Given the description of an element on the screen output the (x, y) to click on. 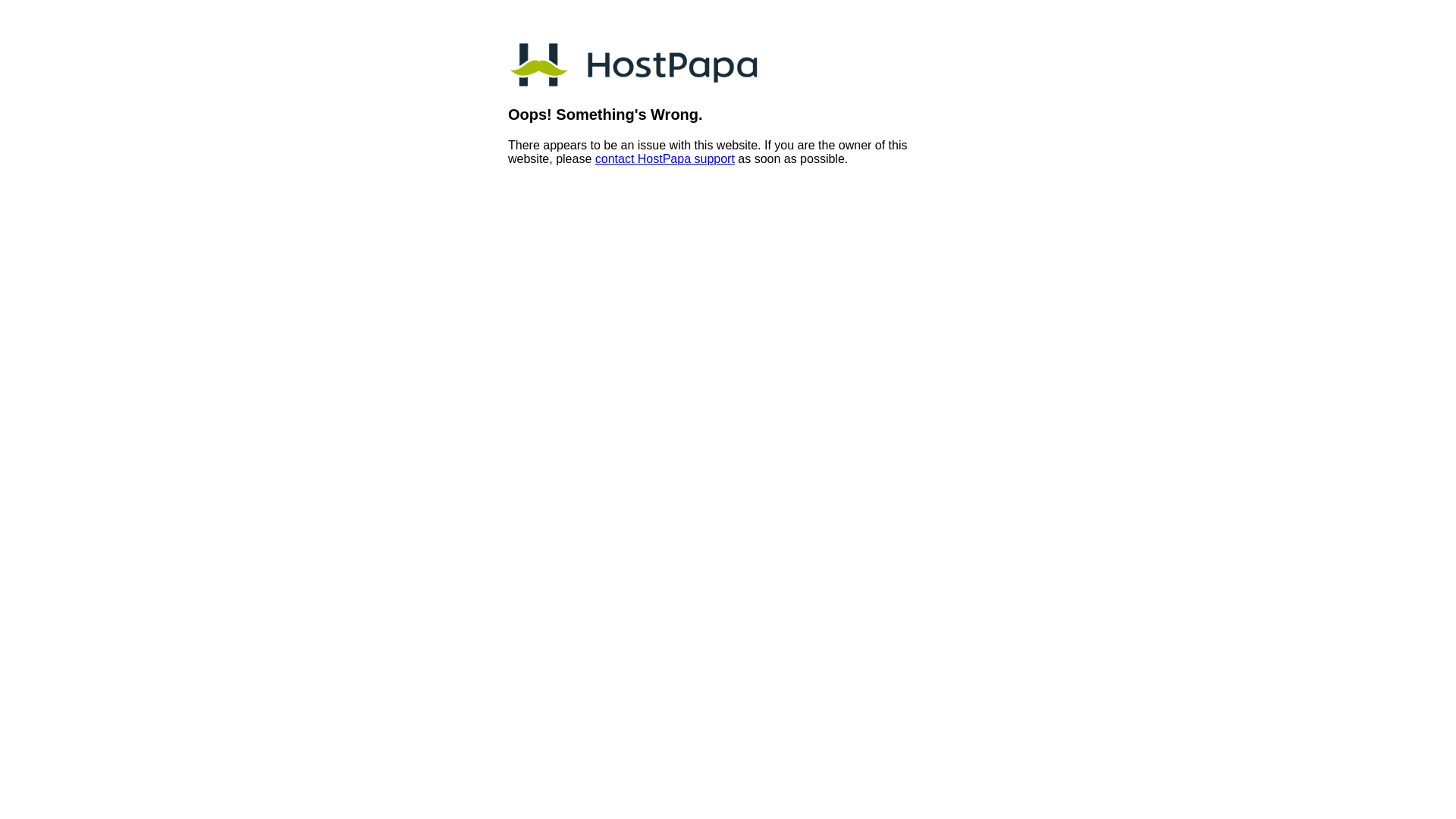
contact HostPapa support Element type: text (664, 158)
